Given the description of an element on the screen output the (x, y) to click on. 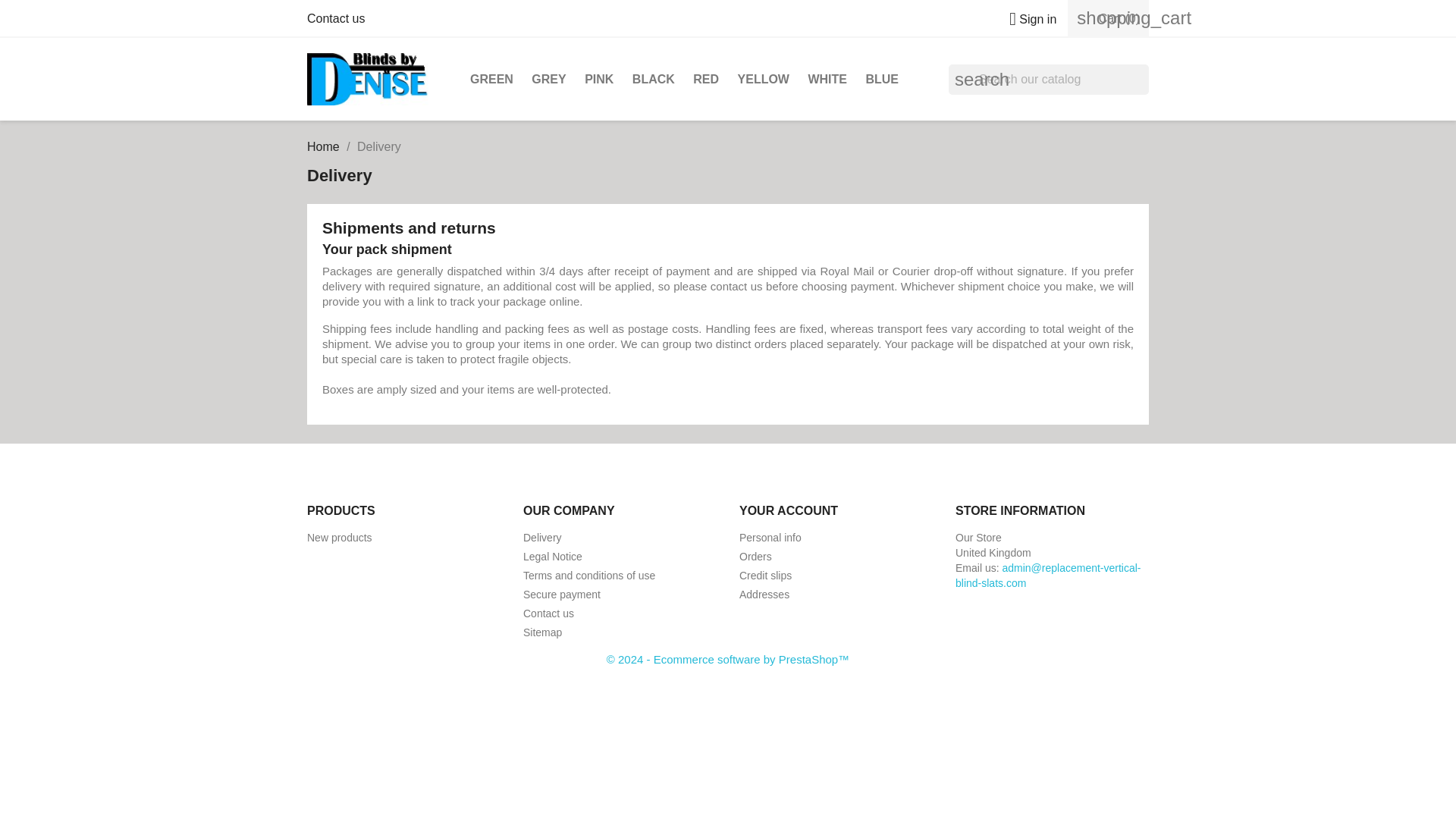
New products (339, 537)
Terms and conditions of use (588, 575)
Lost ? Find what your are looking for (542, 632)
Addresses (764, 594)
Our new products (339, 537)
Home (323, 146)
Contact us (547, 613)
Credit slips (765, 575)
WHITE (826, 79)
Sitemap (542, 632)
